Given the description of an element on the screen output the (x, y) to click on. 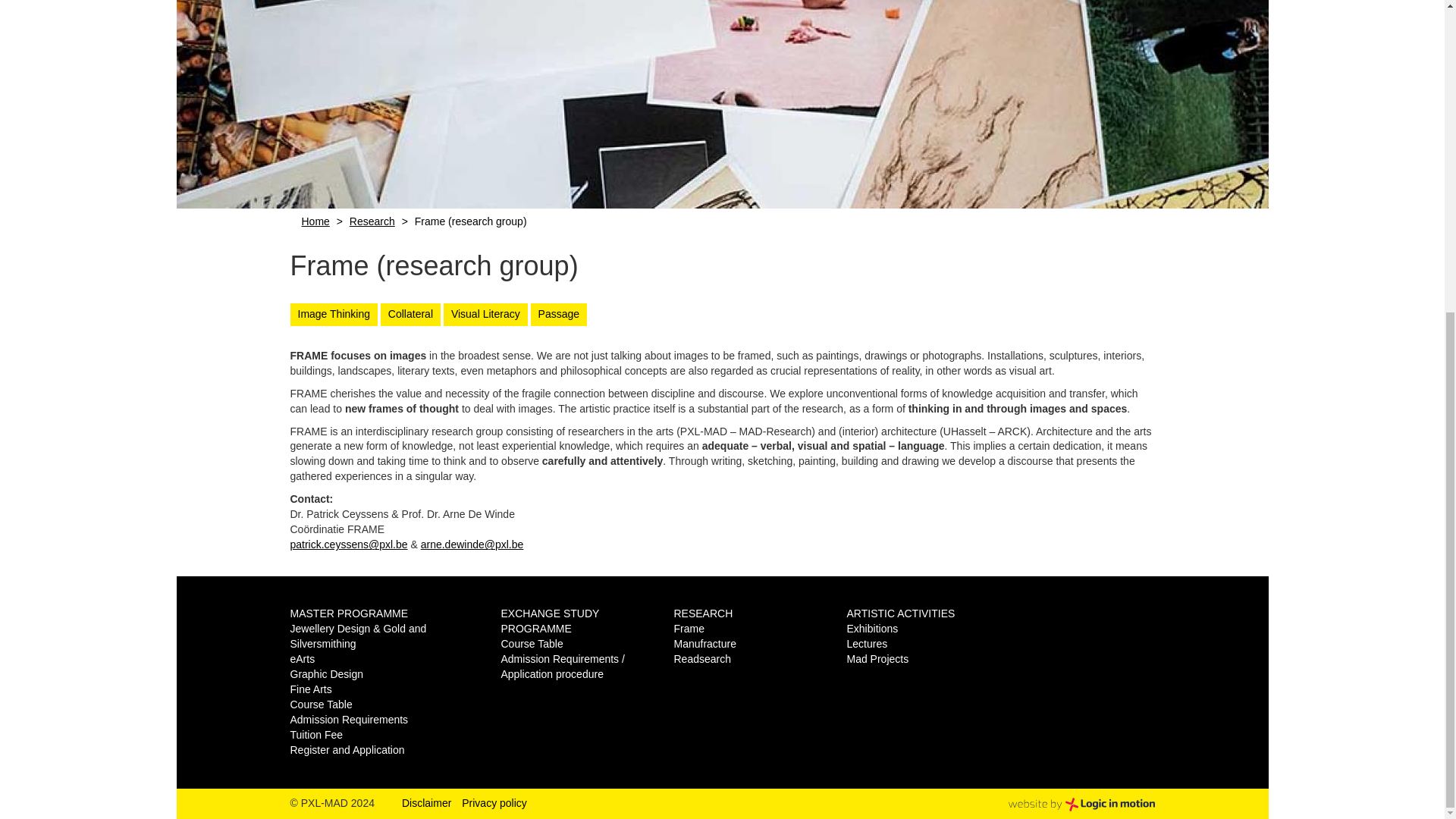
Research (371, 221)
Home (315, 221)
